Given the description of an element on the screen output the (x, y) to click on. 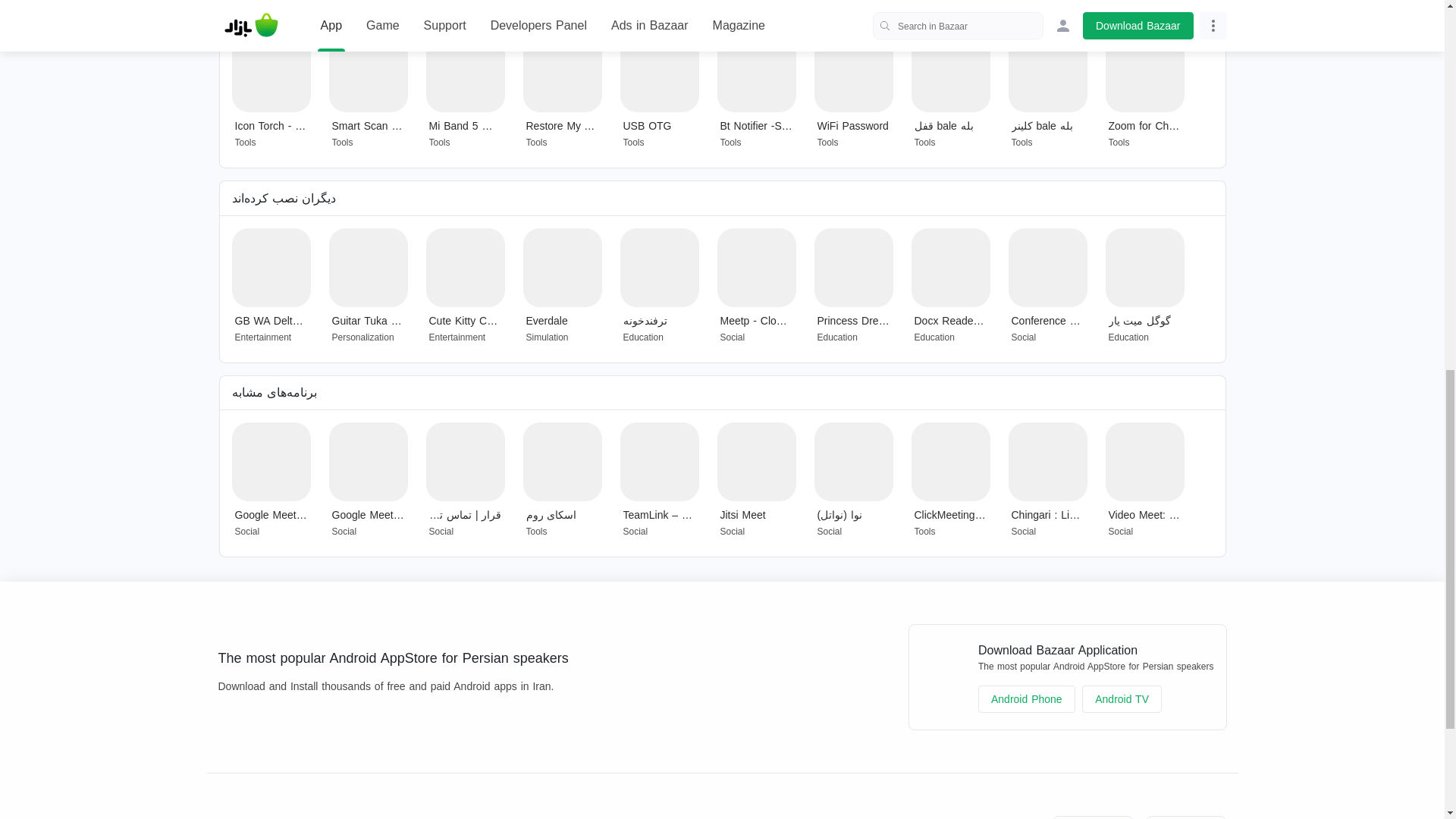
Install Bazaar (266, 817)
